Given the description of an element on the screen output the (x, y) to click on. 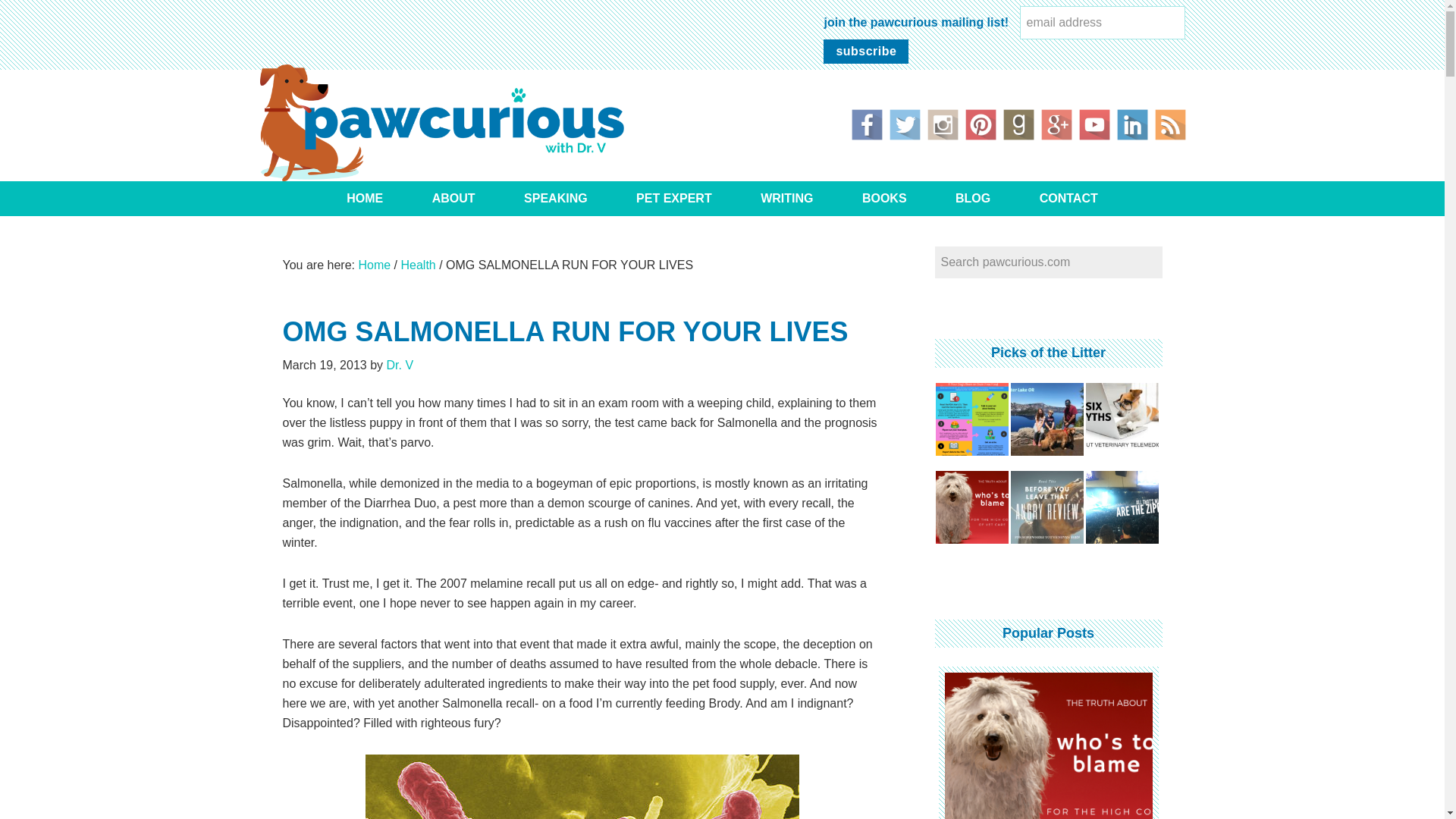
PET EXPERT (673, 198)
WRITING (786, 198)
ABOUT (453, 198)
Subscribe (866, 51)
salmonella (582, 786)
Subscribe (866, 51)
HOME (364, 198)
SPEAKING (555, 198)
Pawcurious: With Veterinarian and Author Dr. V (441, 121)
